Given the description of an element on the screen output the (x, y) to click on. 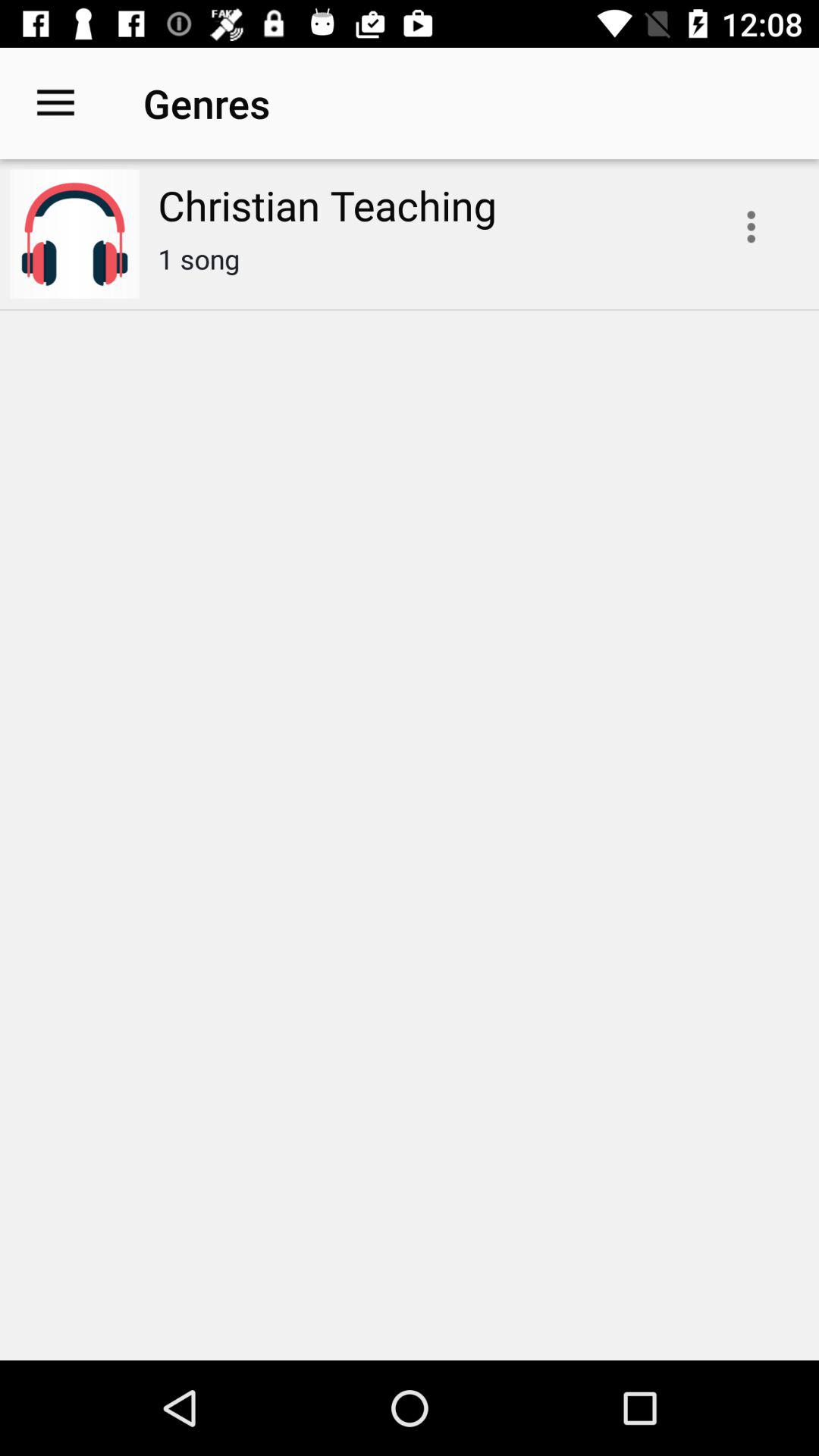
open icon to the left of the christian teaching icon (55, 103)
